Given the description of an element on the screen output the (x, y) to click on. 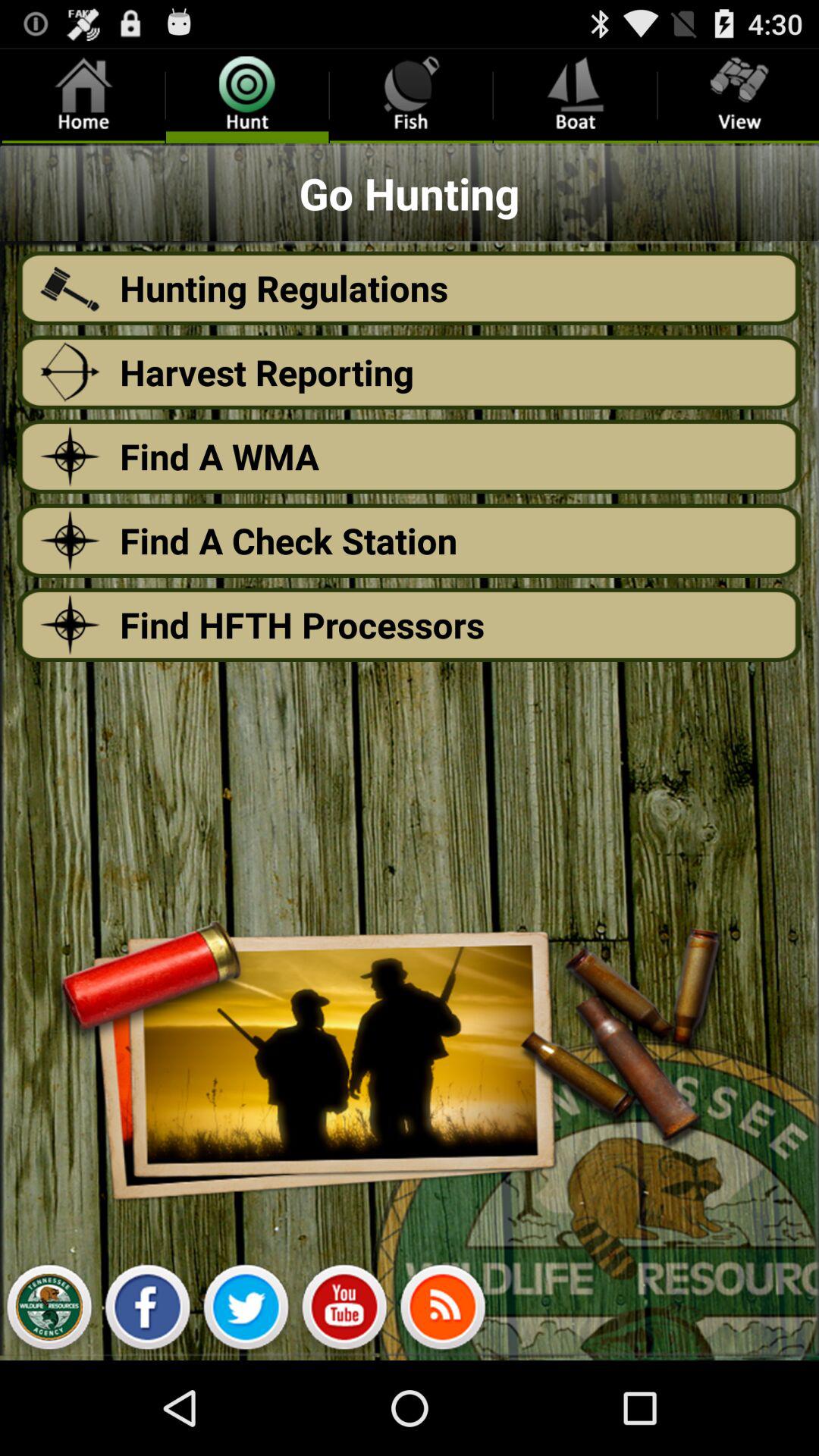
share on rss (442, 1311)
